Given the description of an element on the screen output the (x, y) to click on. 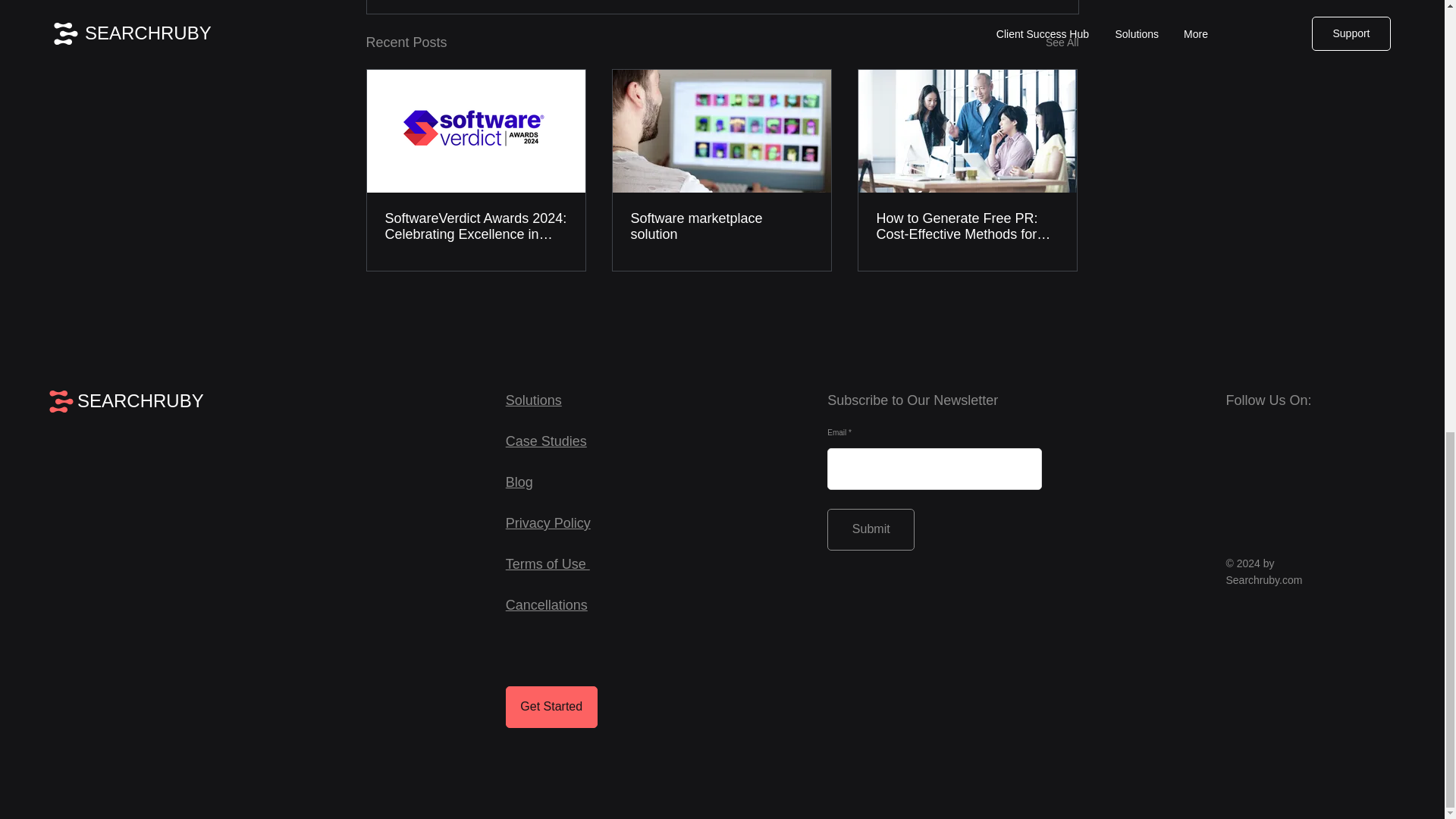
Software marketplace solution (721, 226)
Privacy Policy (548, 522)
Terms of Use  (547, 563)
Get Started (550, 707)
Solutions (533, 400)
See All (1061, 42)
Blog (518, 482)
SEARCHRUBY (140, 400)
Case Studies (545, 441)
Cancellations (546, 604)
Submit (870, 529)
